Given the description of an element on the screen output the (x, y) to click on. 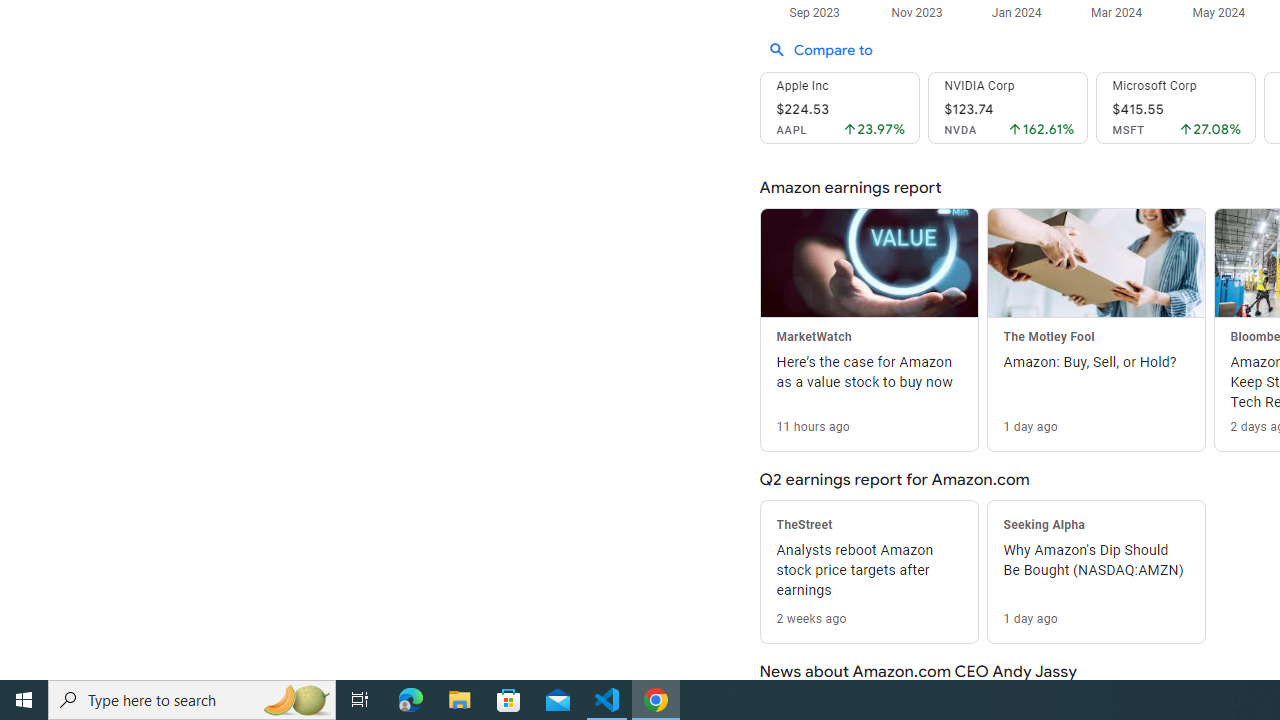
The Motley Fool Amazon: Buy, Sell, or Hold? 1 day ago (1095, 329)
